Given the description of an element on the screen output the (x, y) to click on. 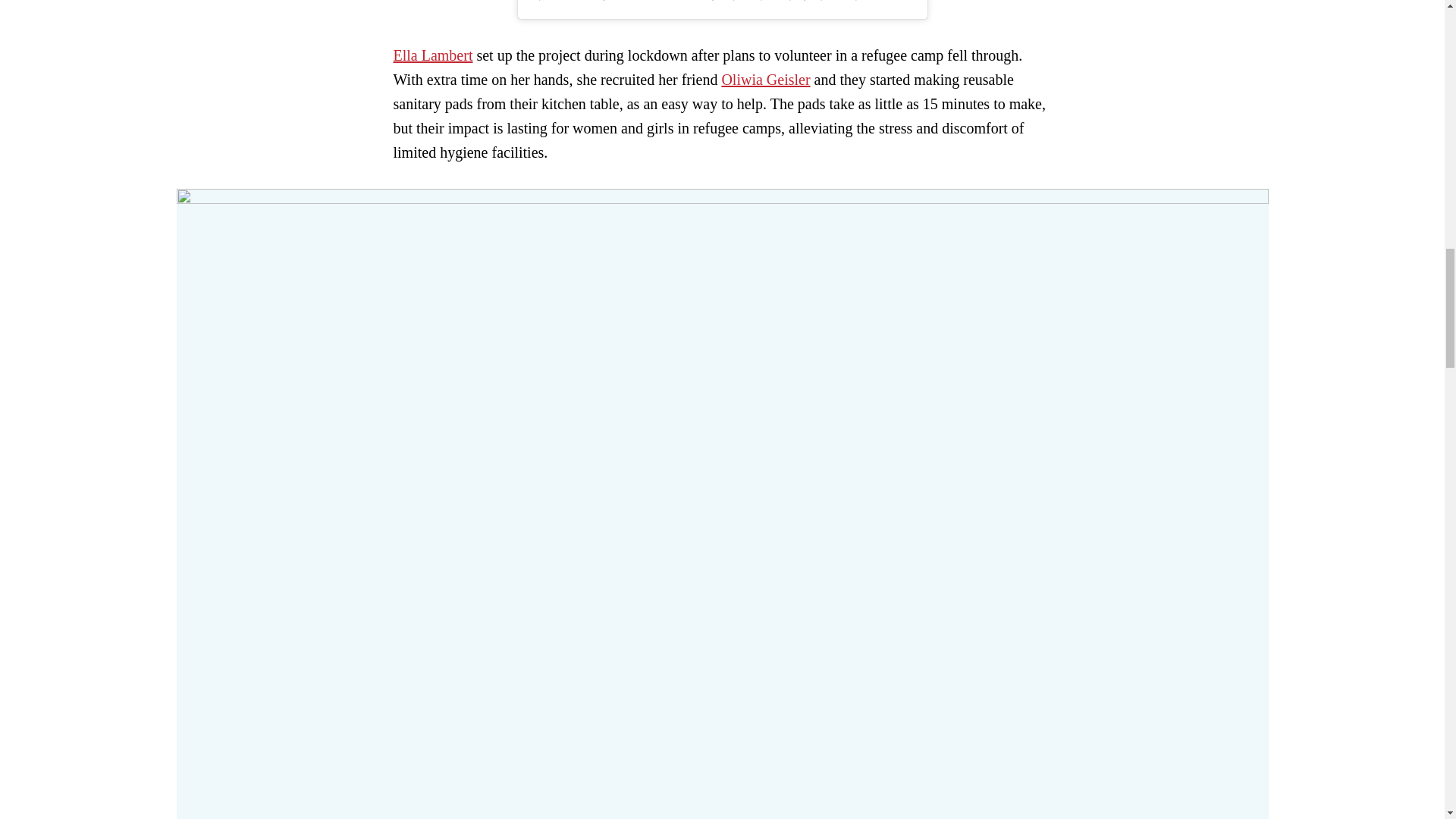
Oliwia Geisler (764, 79)
Ella Lambert (432, 54)
